Given the description of an element on the screen output the (x, y) to click on. 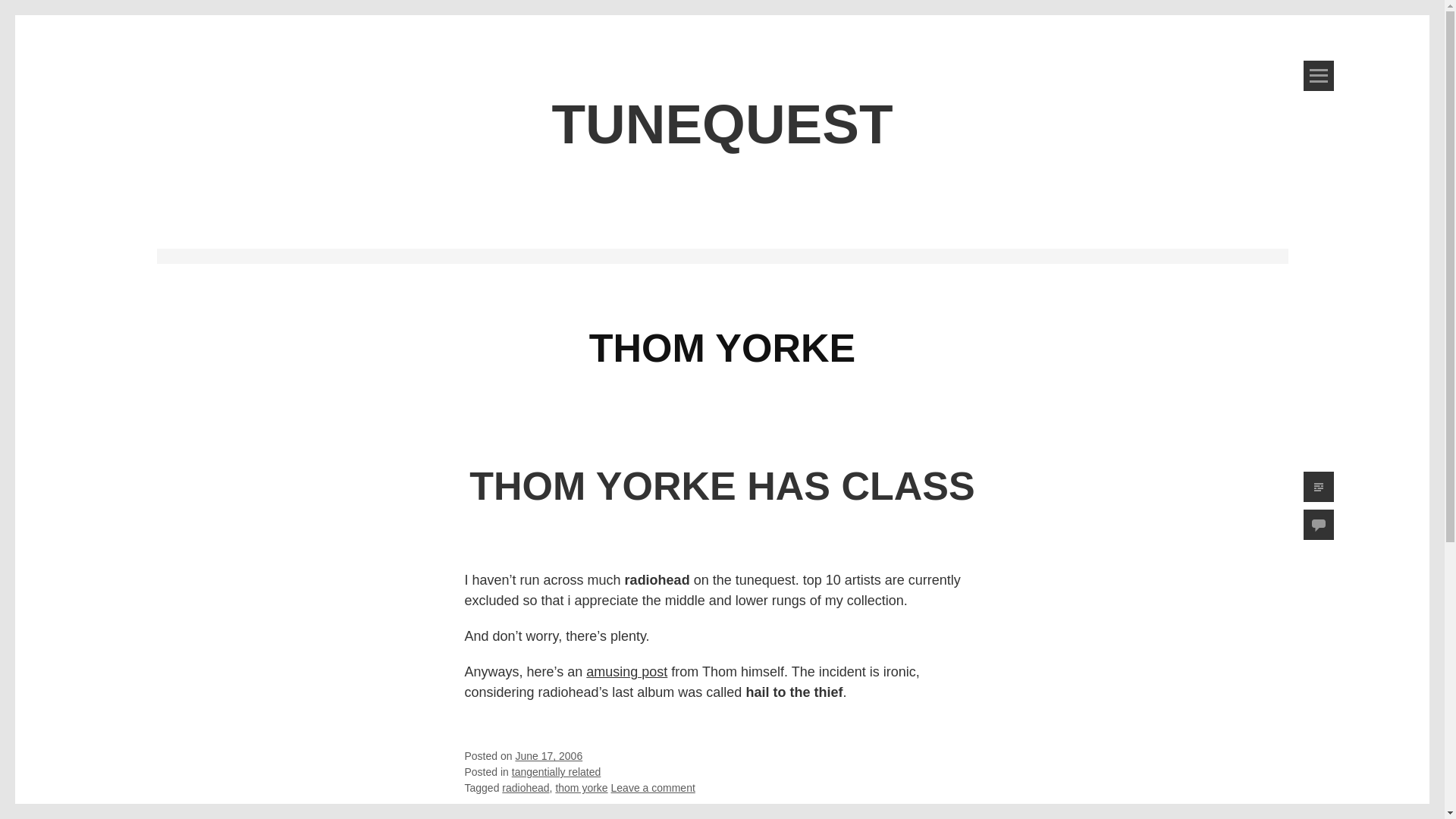
TUNEQUEST (721, 123)
amusing post (626, 671)
Leave a comment (653, 787)
THOM YORKE HAS CLASS (721, 485)
thom yorke (580, 787)
June 17, 2006 (548, 756)
tangentially related (556, 771)
radiohead (525, 787)
